Given the description of an element on the screen output the (x, y) to click on. 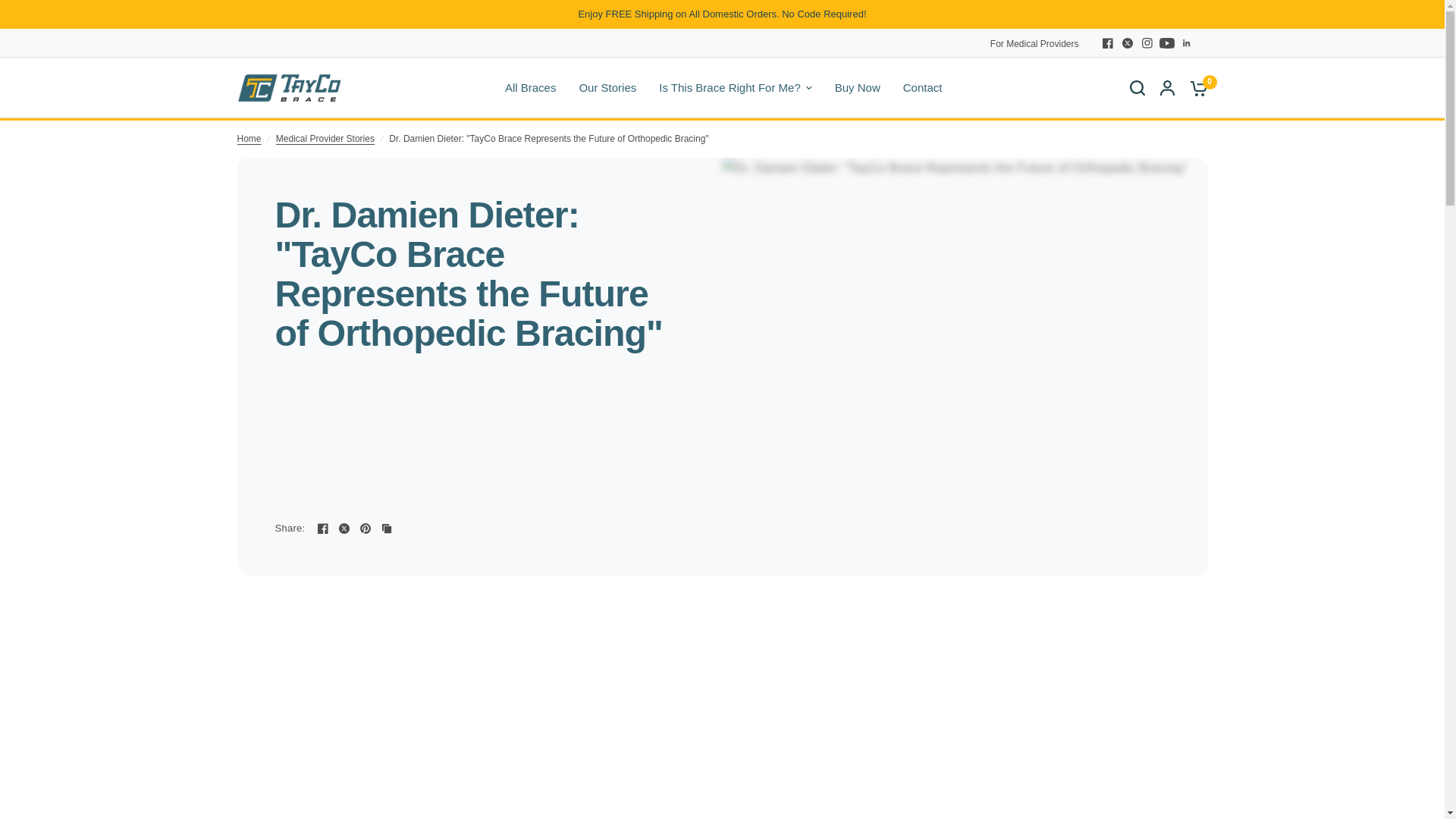
Linkedin (1186, 43)
For Medical Providers (1034, 43)
YouTube (1166, 43)
Facebook (1107, 43)
For Medical Providers (1034, 43)
Instagram (1147, 43)
X (1127, 43)
